Given the description of an element on the screen output the (x, y) to click on. 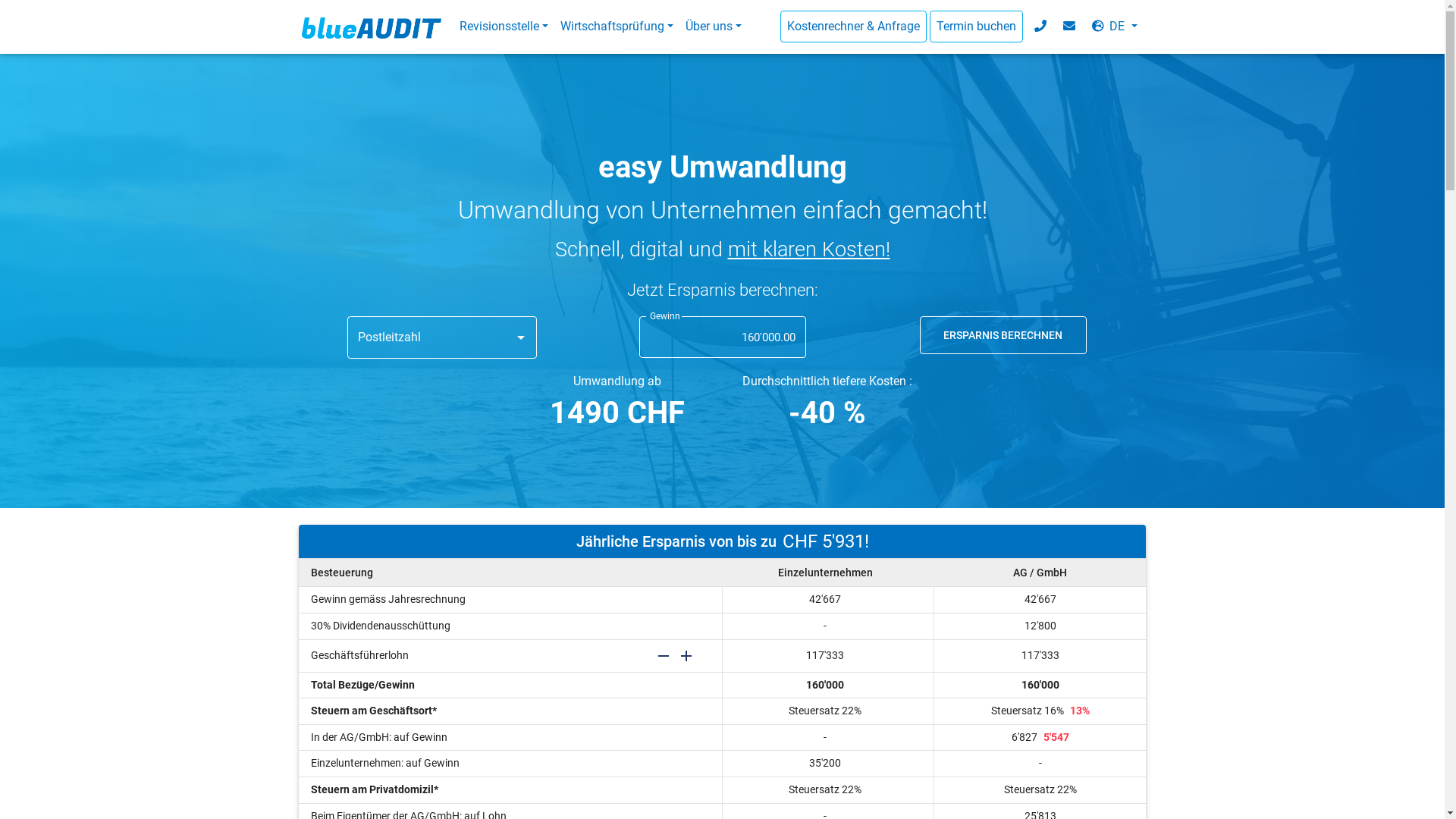
Weniger Element type: hover (663, 654)
DE Element type: text (1112, 26)
ERSPARNIS BERECHNEN Element type: text (1002, 335)
Kostenrechner & Anfrage Element type: text (853, 26)
Mehr Element type: hover (685, 654)
Termin buchen Element type: text (975, 26)
Open Element type: hover (519, 337)
Revisionsstelle Element type: text (503, 26)
